Given the description of an element on the screen output the (x, y) to click on. 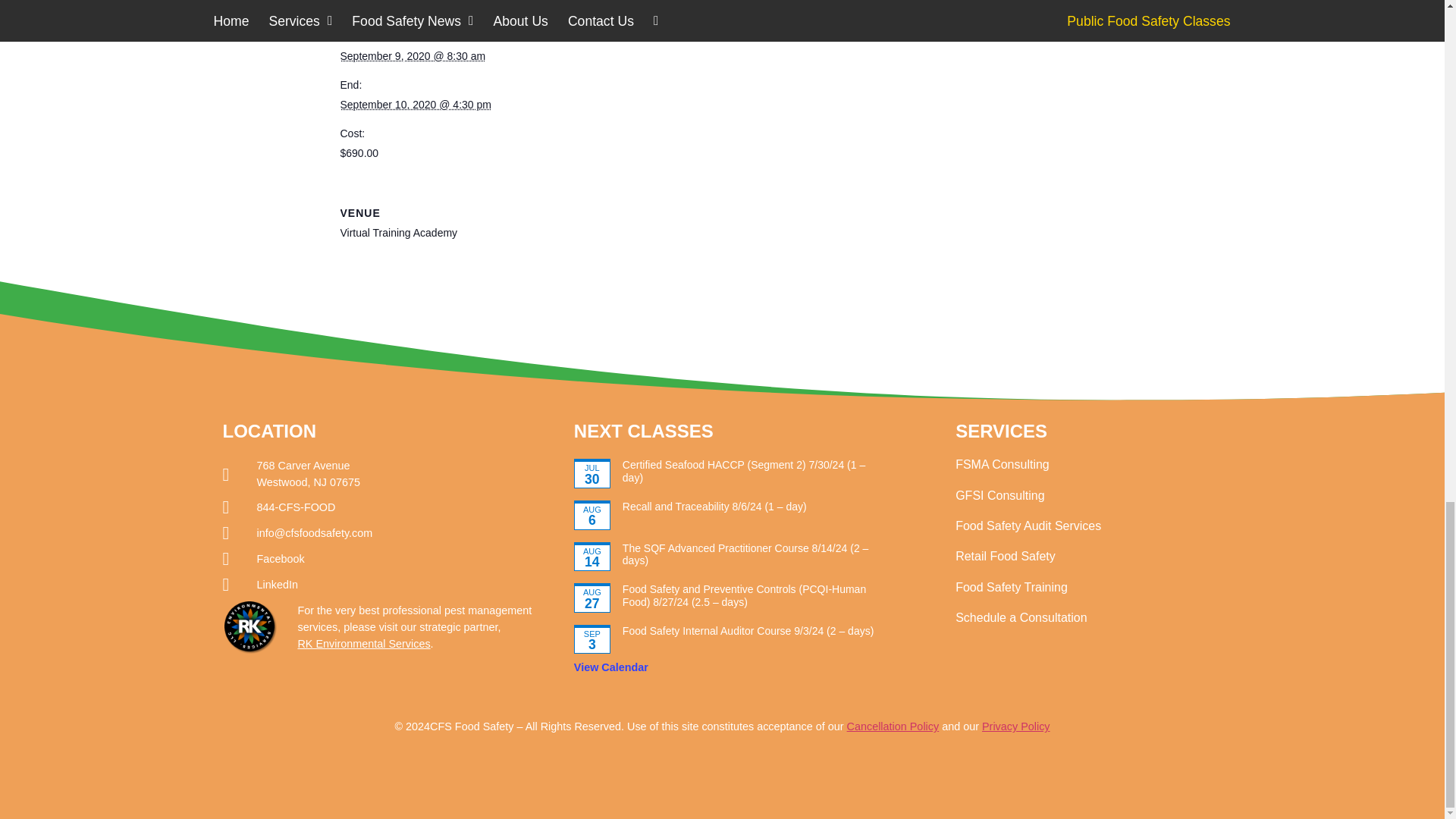
2020-09-09 (411, 55)
2020-09-10 (414, 104)
